Given the description of an element on the screen output the (x, y) to click on. 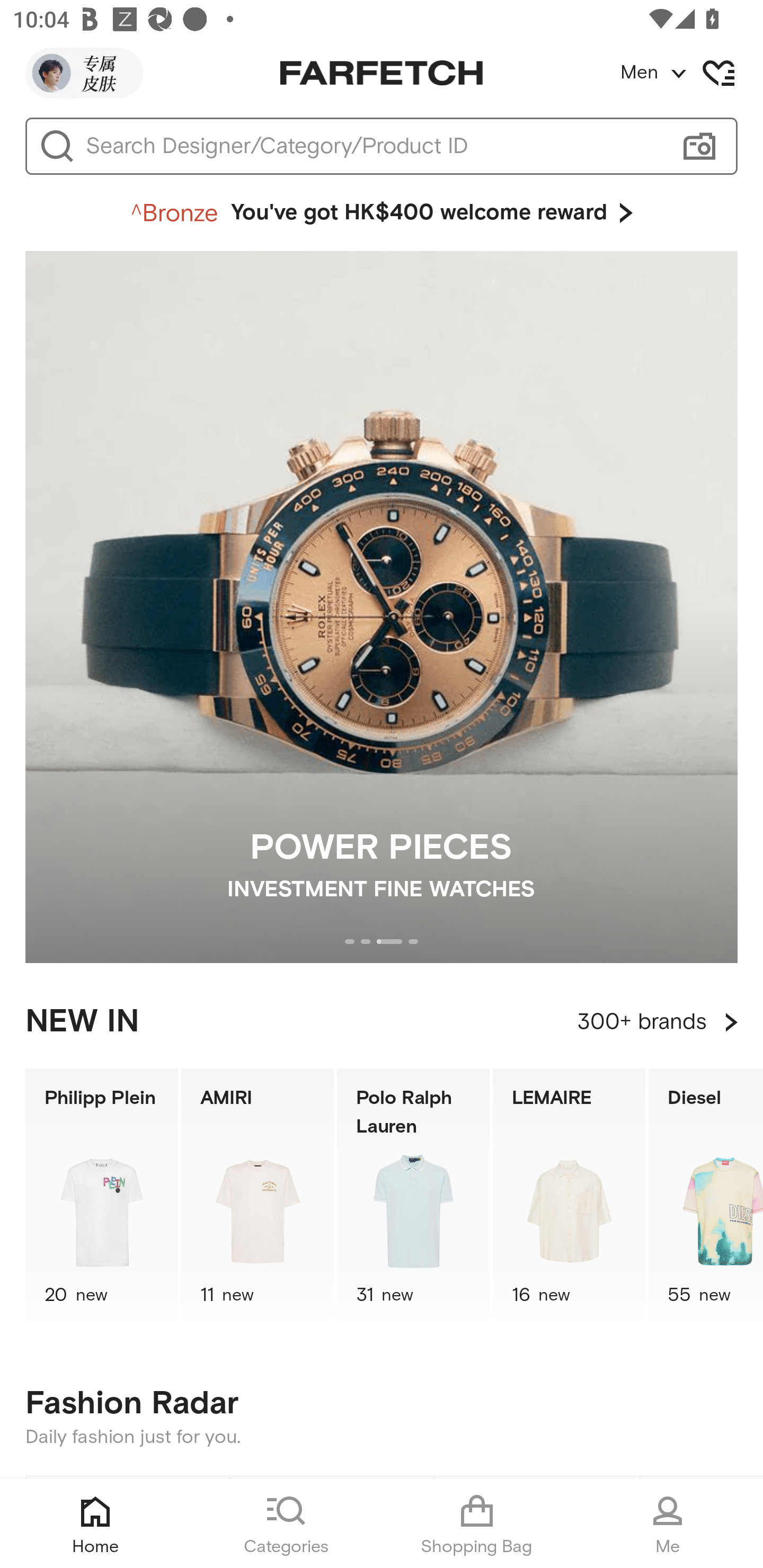
Men (691, 72)
Search Designer/Category/Product ID (373, 146)
You've got HK$400 welcome reward (381, 213)
NEW IN 300+ brands (381, 1021)
Philipp Plein 20  new (101, 1196)
AMIRI 11  new (257, 1196)
Polo Ralph Lauren 31  new (413, 1196)
LEMAIRE 16  new (568, 1196)
Diesel 55  new (705, 1196)
Categories (285, 1523)
Shopping Bag (476, 1523)
Me (667, 1523)
